Given the description of an element on the screen output the (x, y) to click on. 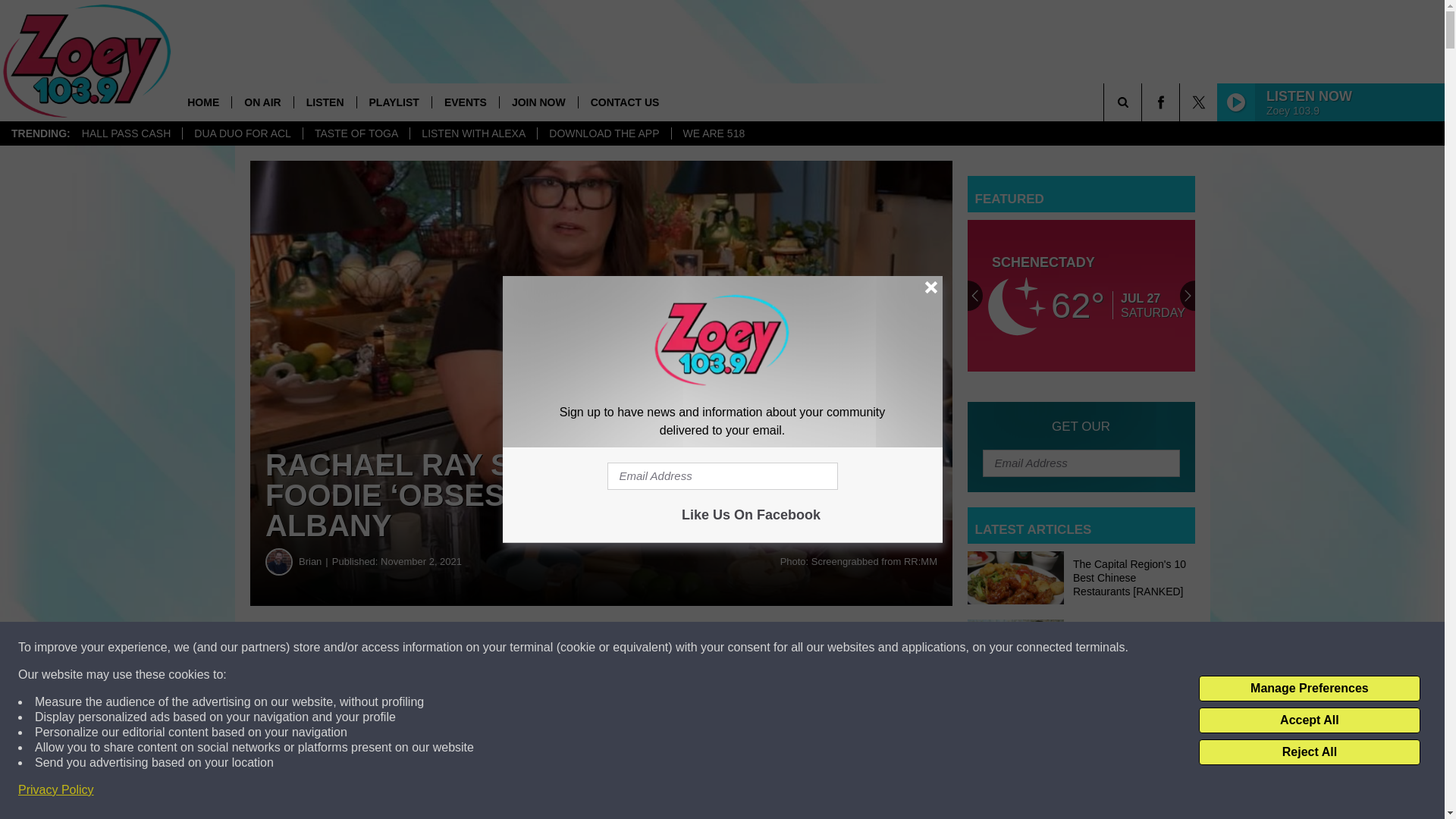
DUA DUO FOR ACL (242, 133)
Reject All (1309, 751)
PLAYLIST (393, 102)
Email Address (722, 475)
Share on Facebook (460, 647)
ON AIR (261, 102)
WE ARE 518 (712, 133)
Share on Twitter (741, 647)
TASTE OF TOGA (355, 133)
DOWNLOAD THE APP (603, 133)
LISTEN (325, 102)
Manage Preferences (1309, 688)
SEARCH (1144, 102)
Accept All (1309, 720)
EVENTS (464, 102)
